Given the description of an element on the screen output the (x, y) to click on. 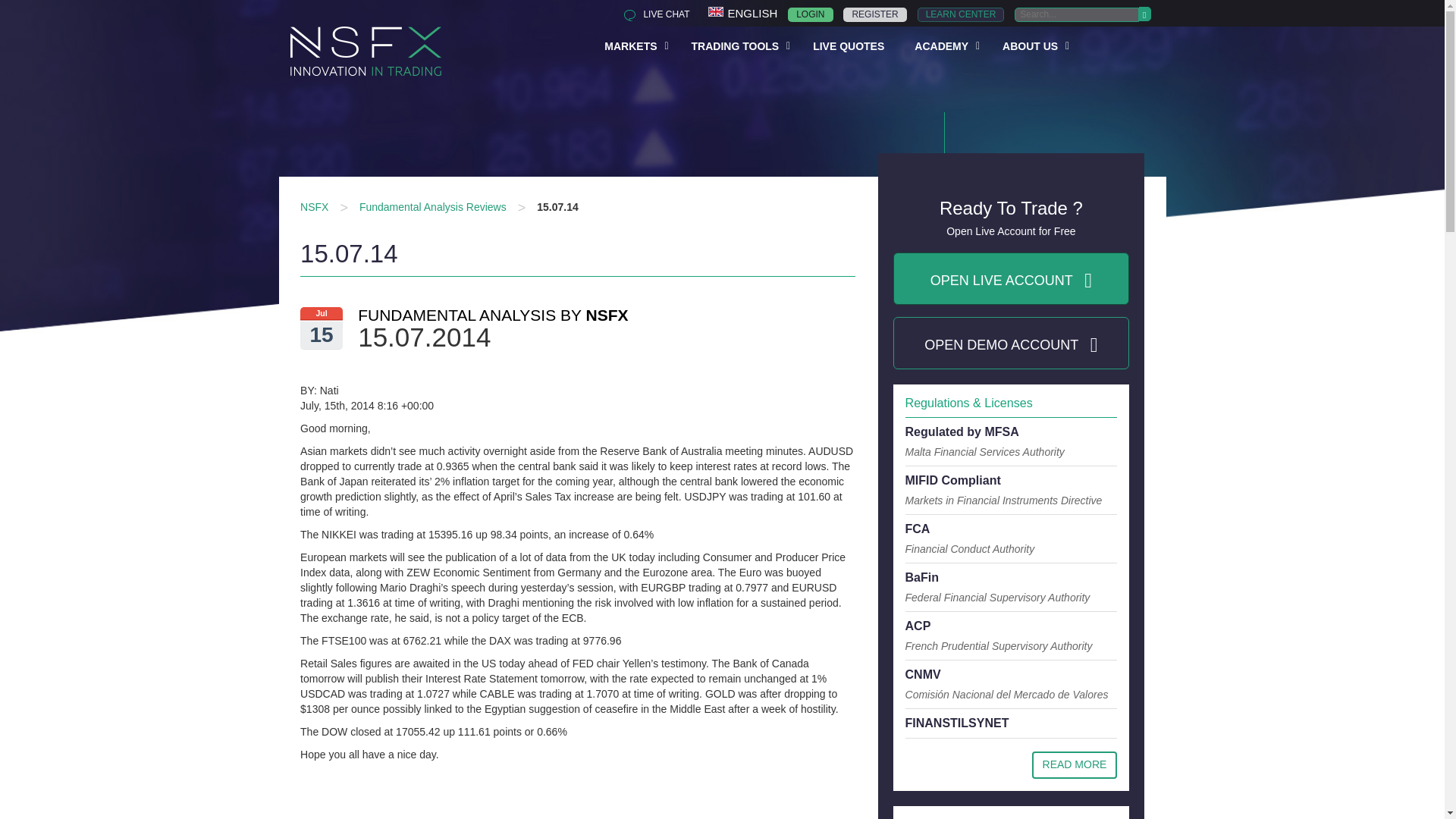
NSFX (314, 206)
LEARN CENTER (960, 14)
LIVE CHAT (652, 14)
REGISTER (874, 14)
Fundamental Analysis Reviews (432, 206)
Live Chat with our Forex Trading Pro's (652, 14)
Regulations and Licenses (1075, 764)
LOGIN (809, 14)
MARKETS (632, 44)
TRADING TOOLS (737, 44)
